Given the description of an element on the screen output the (x, y) to click on. 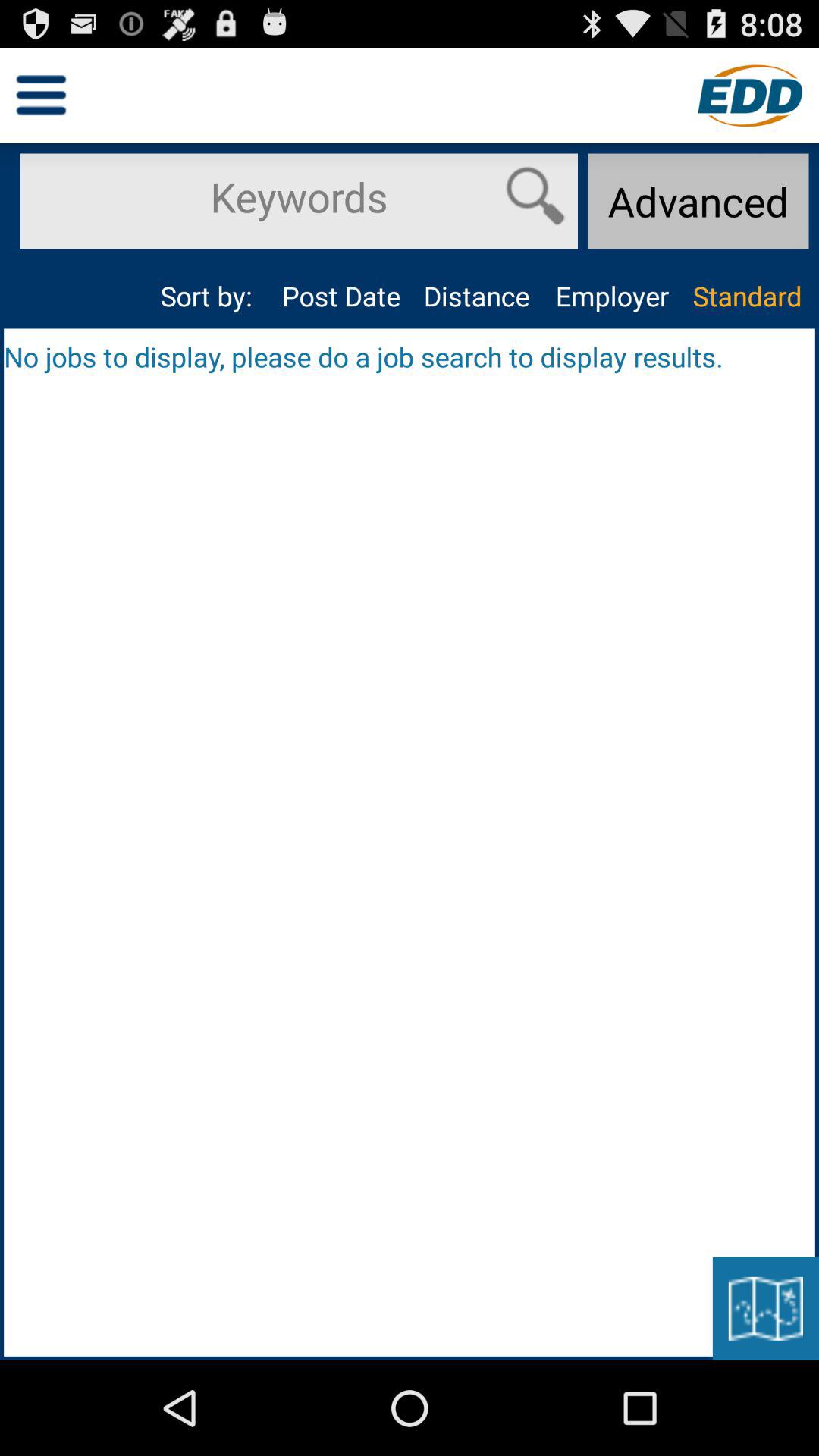
open the icon at the bottom right corner (765, 1308)
